Given the description of an element on the screen output the (x, y) to click on. 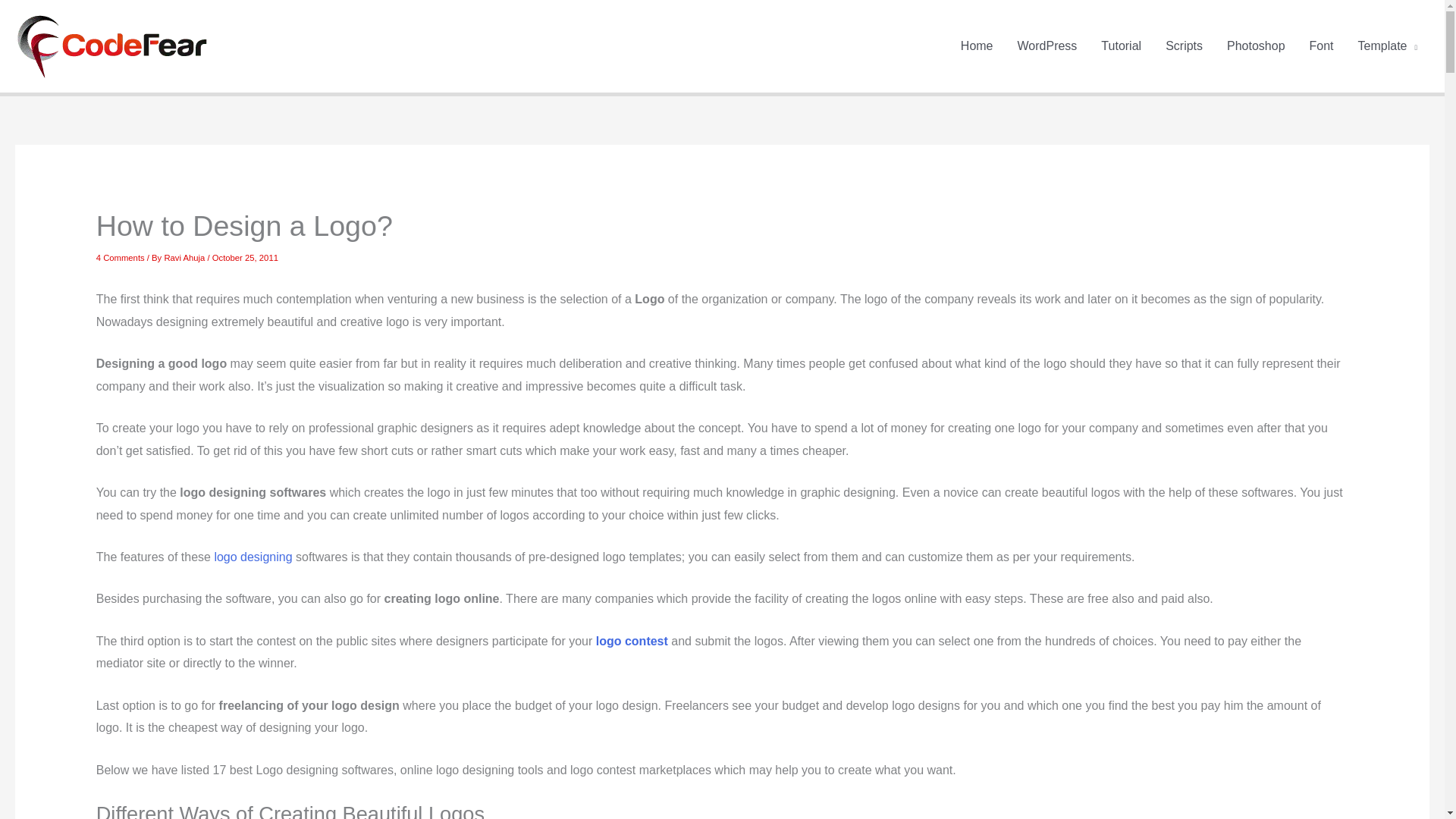
Template (1387, 46)
logo designing (253, 556)
View all posts by Ravi Ahuja (184, 257)
Ravi Ahuja (184, 257)
Photoshop (1255, 46)
4 Comments (120, 257)
logo contest (631, 640)
WordPress (1047, 46)
